Given the description of an element on the screen output the (x, y) to click on. 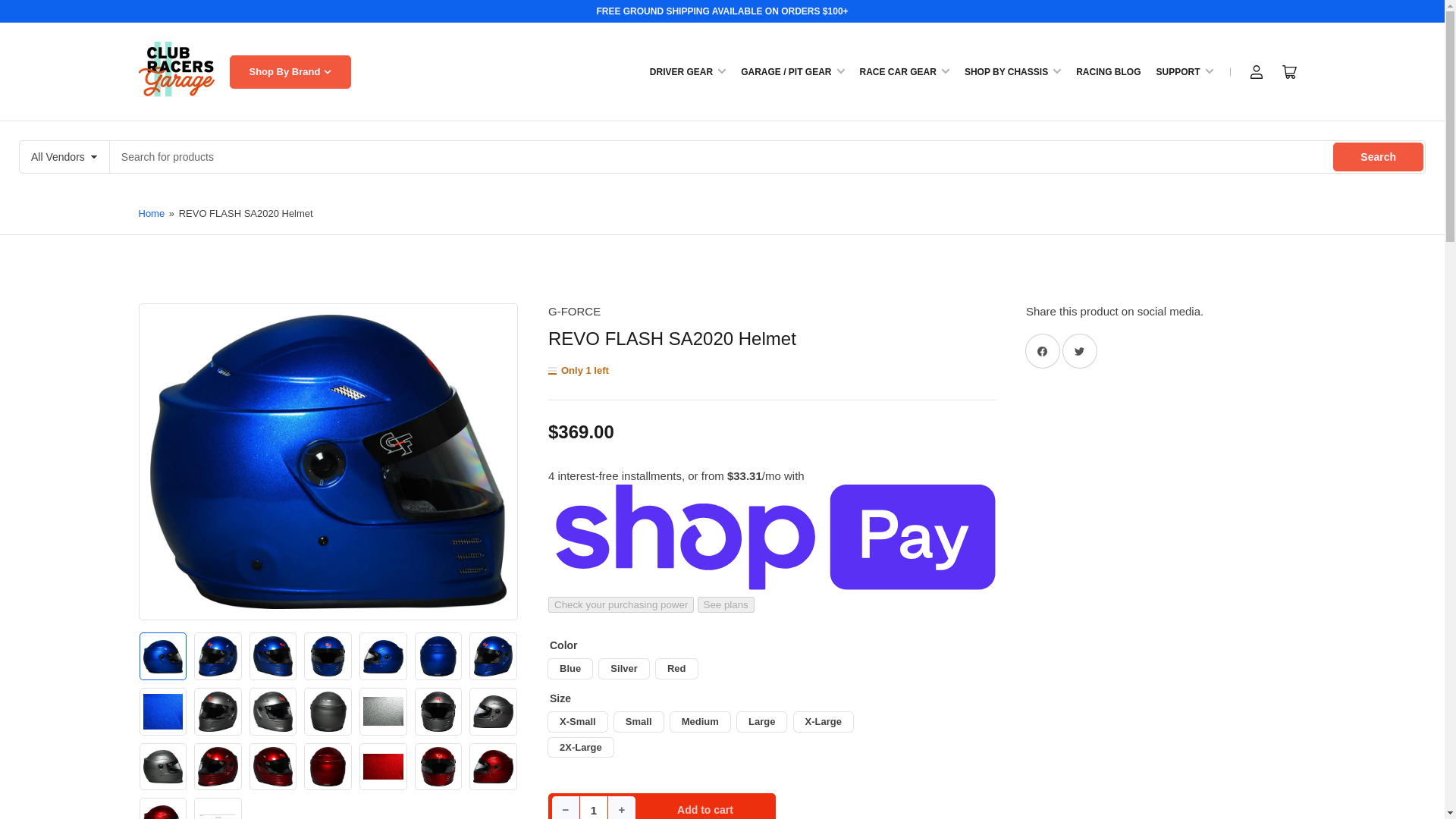
Shop By Brand (289, 70)
